Given the description of an element on the screen output the (x, y) to click on. 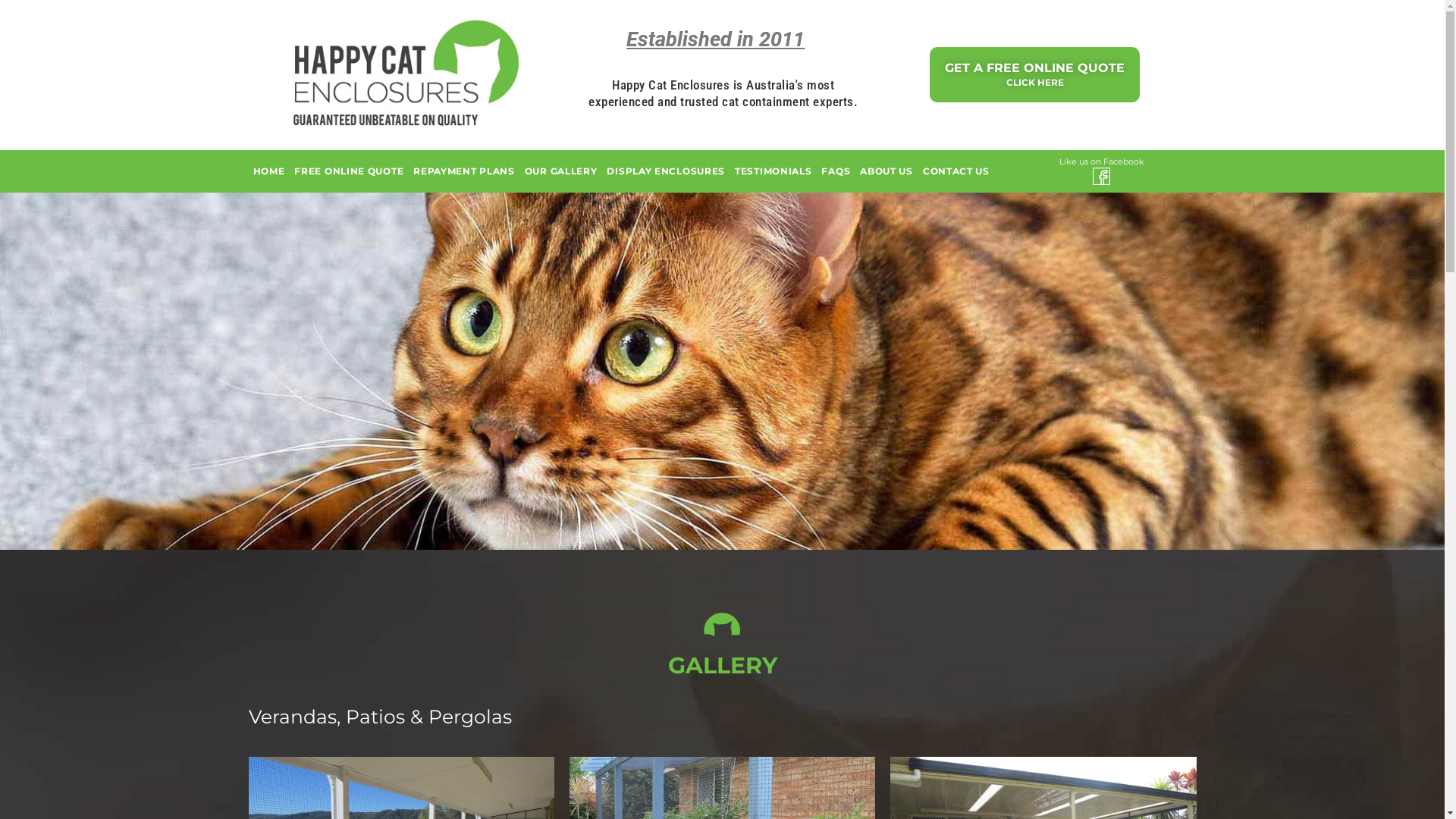
HOME Element type: text (268, 171)
DISPLAY ENCLOSURES Element type: text (665, 171)
GET A FREE ONLINE QUOTE
CLICK HERE Element type: text (1034, 74)
FAQS Element type: text (835, 171)
ABOUT US Element type: text (886, 171)
CONTACT US Element type: text (956, 171)
OUR GALLERY Element type: text (561, 171)
Like us on Facebook Element type: text (1100, 161)
FREE ONLINE QUOTE Element type: text (348, 171)
REPAYMENT PLANS Element type: text (463, 171)
TESTIMONIALS Element type: text (772, 171)
